Given the description of an element on the screen output the (x, y) to click on. 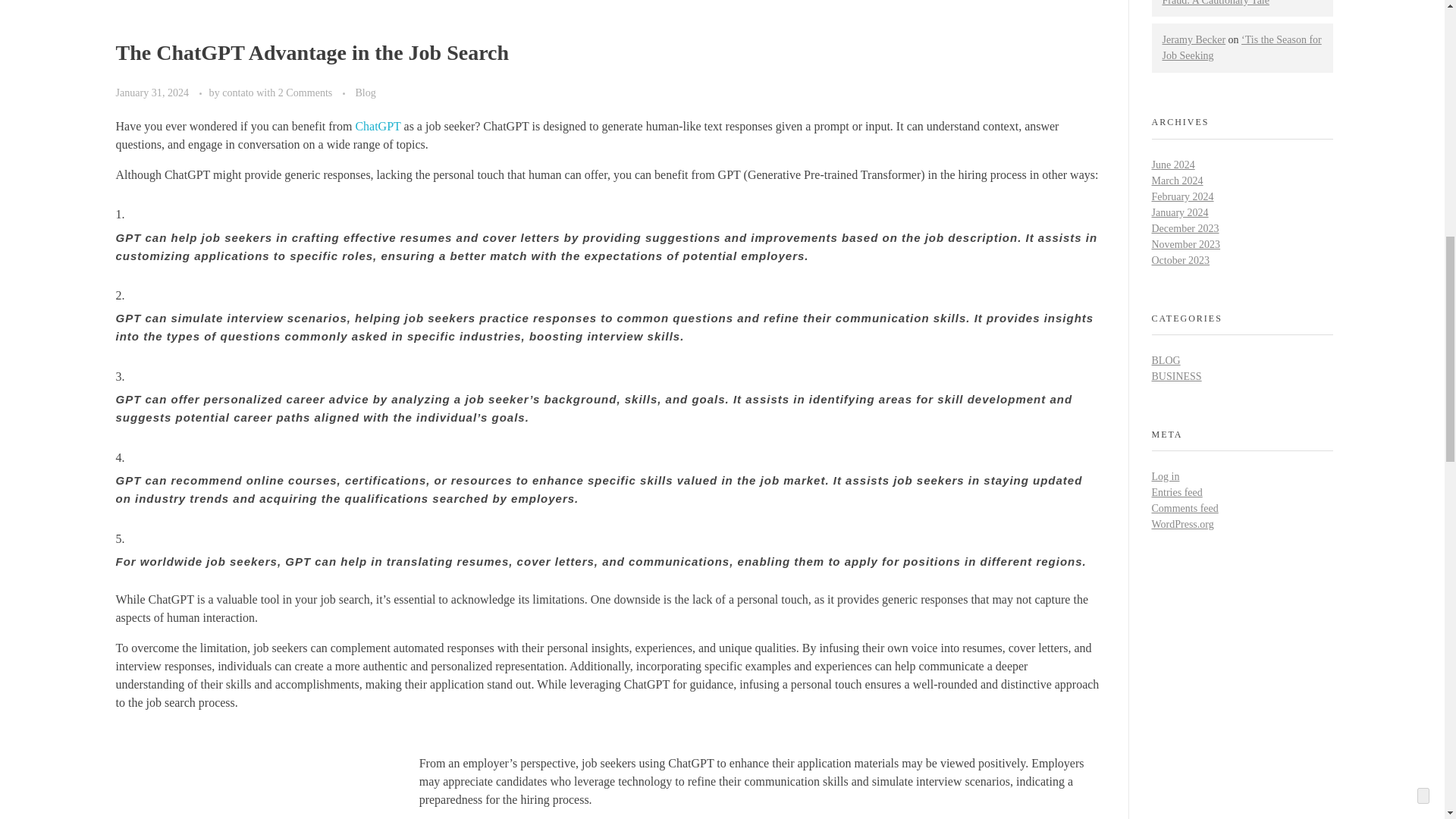
The ChatGPT Advantage in the Job Search (311, 52)
2024-01-31T01:58:11-05:00 (152, 92)
View all posts in Blog (365, 92)
View all posts by contato (239, 92)
